Given the description of an element on the screen output the (x, y) to click on. 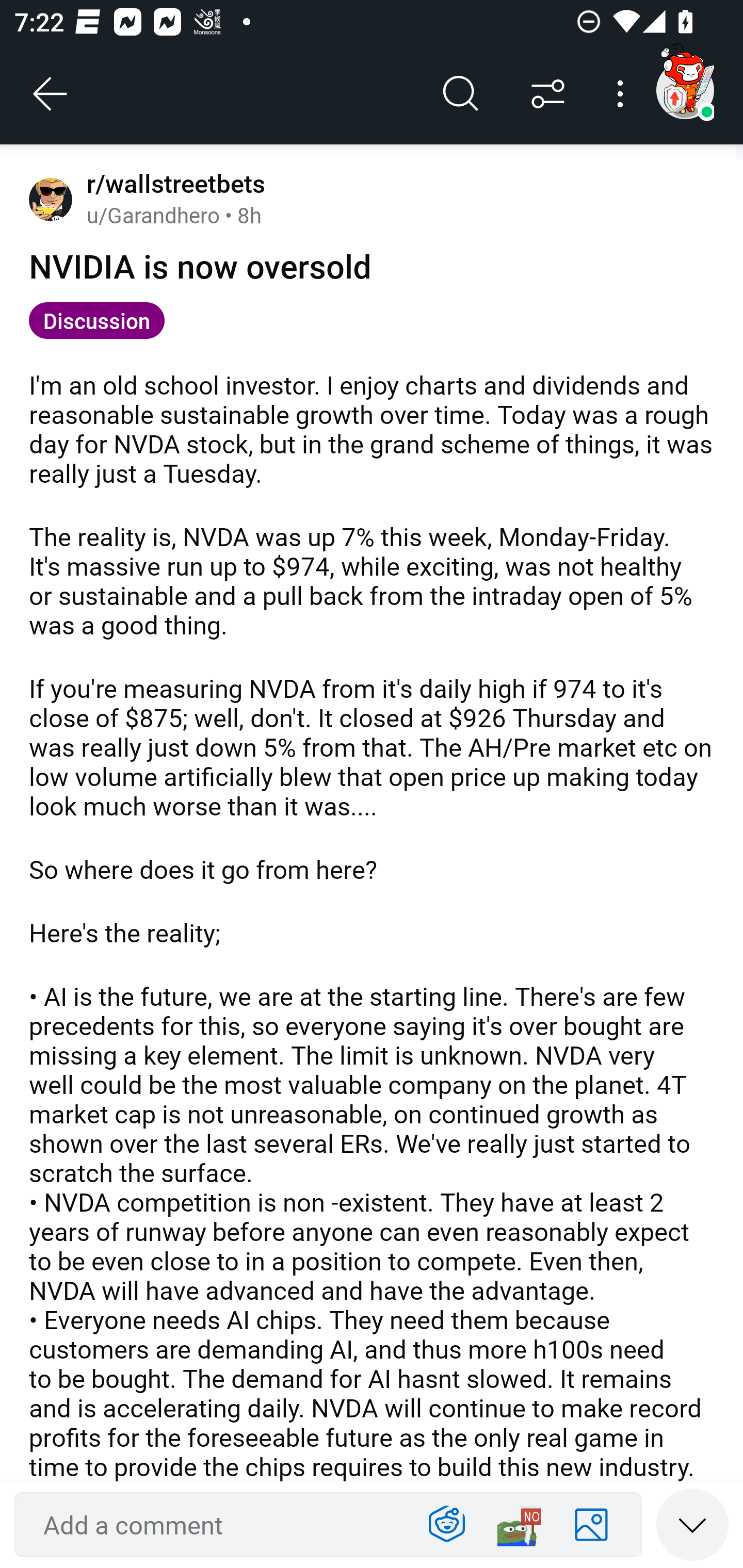
Back (50, 93)
TestAppium002 account (685, 90)
Search comments (460, 93)
Sort comments (547, 93)
More options (623, 93)
r/wallstreetbets (172, 183)
Avatar (50, 199)
Discussion (96, 320)
Speed read (692, 1524)
Add a comment (219, 1524)
Show Expressions (446, 1524)
Add emoji reaction (518, 1524)
Add an image (590, 1524)
